Given the description of an element on the screen output the (x, y) to click on. 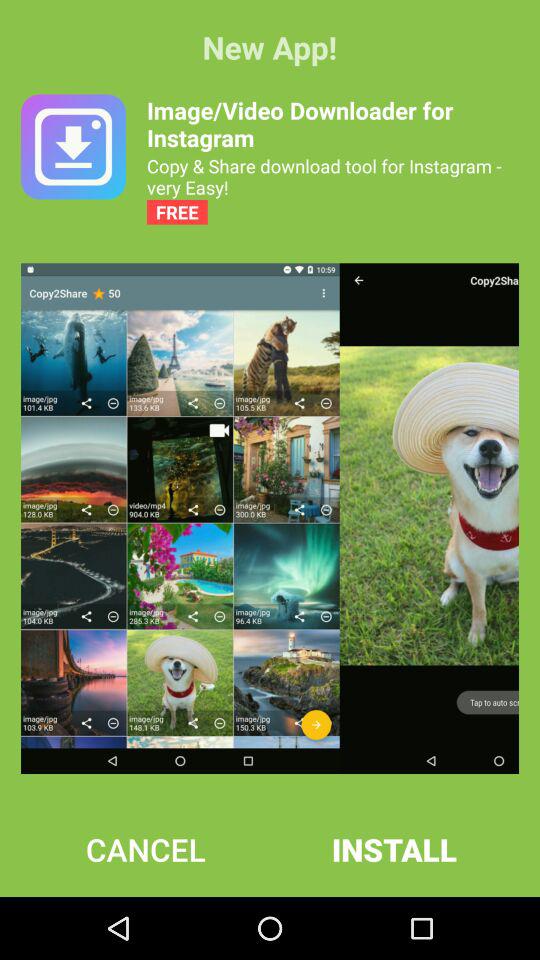
jump until install (394, 849)
